Given the description of an element on the screen output the (x, y) to click on. 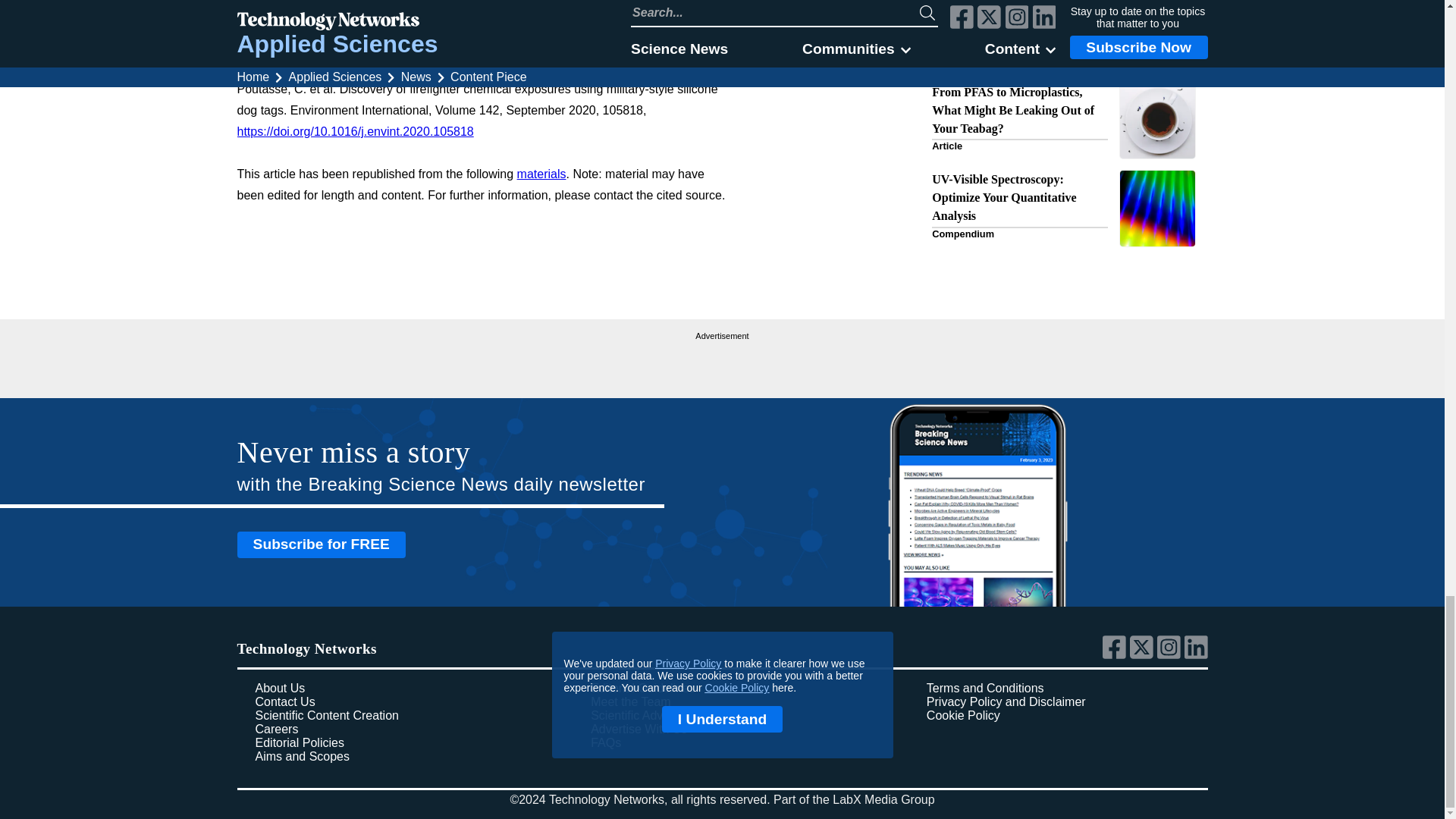
Link to Technology Networks' linkedin page (1196, 655)
3rd party ad content (721, 362)
Link to Technology Networks' twitter page (1143, 655)
Link to Technology Networks' facebook page (1115, 655)
Link to Technology Networks' instagram page (1171, 655)
